Given the description of an element on the screen output the (x, y) to click on. 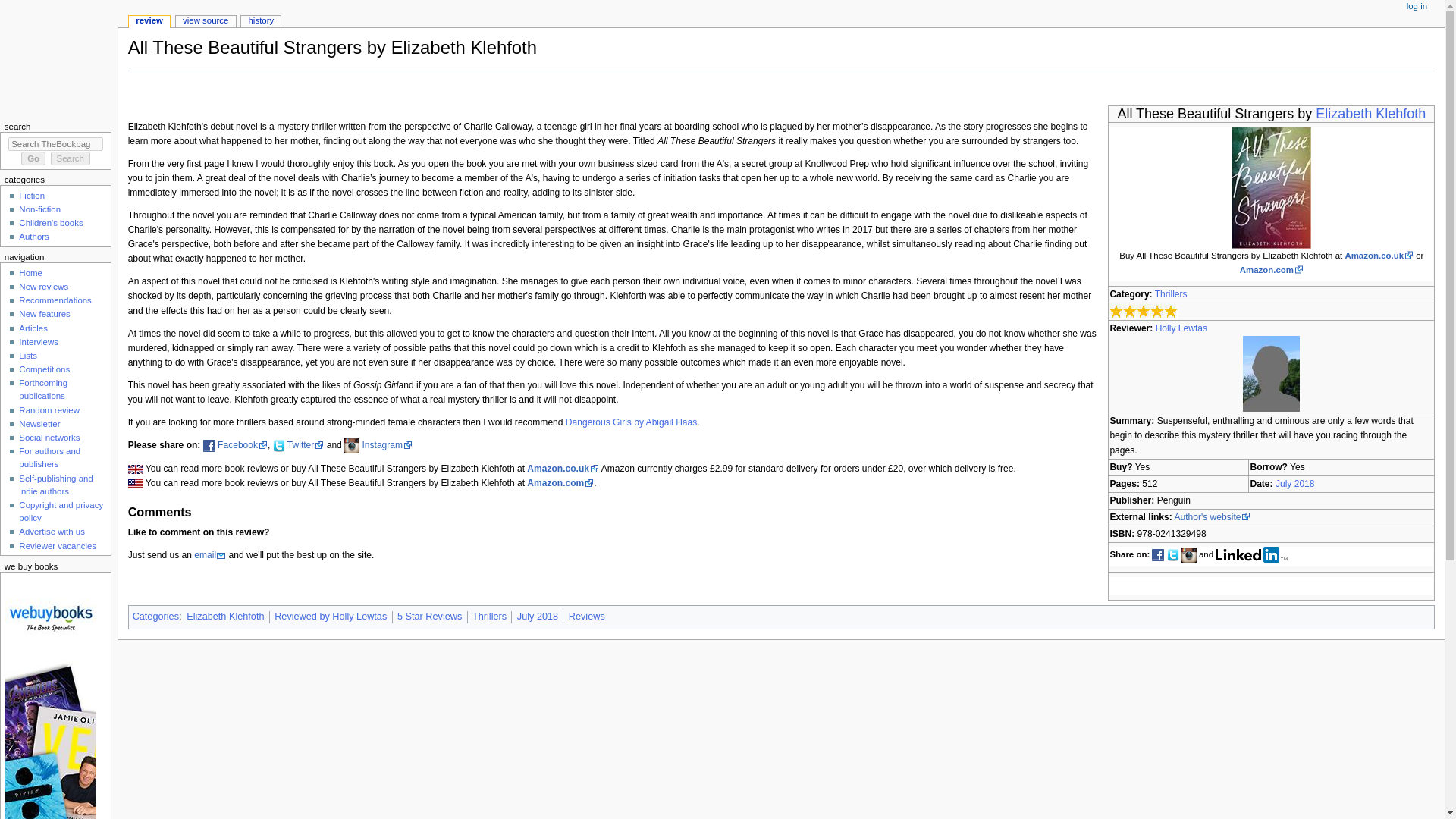
Category:5 Star Reviews (429, 615)
Category:Thrillers (488, 615)
5 Star Reviews (429, 615)
Dangerous Girls by Abigail Haas (631, 421)
Reviews (587, 615)
Instagram (387, 444)
Dangerous Girls by Abigail Haas (631, 421)
Categories (155, 615)
Category:Reviewed by Holly Lewtas (331, 615)
Category:July 2018 (536, 615)
